Given the description of an element on the screen output the (x, y) to click on. 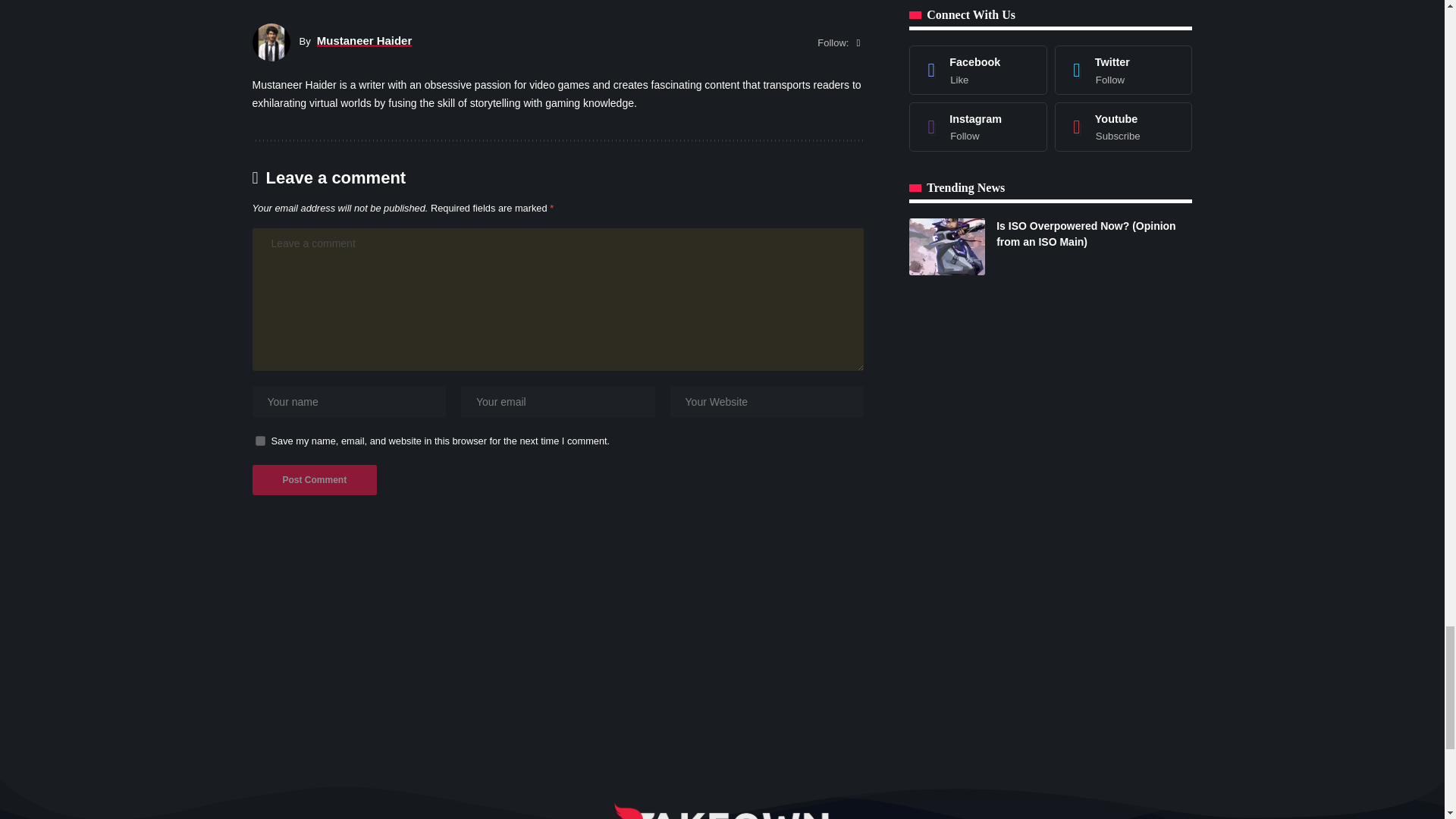
Post Comment (314, 480)
yes (259, 440)
